Given the description of an element on the screen output the (x, y) to click on. 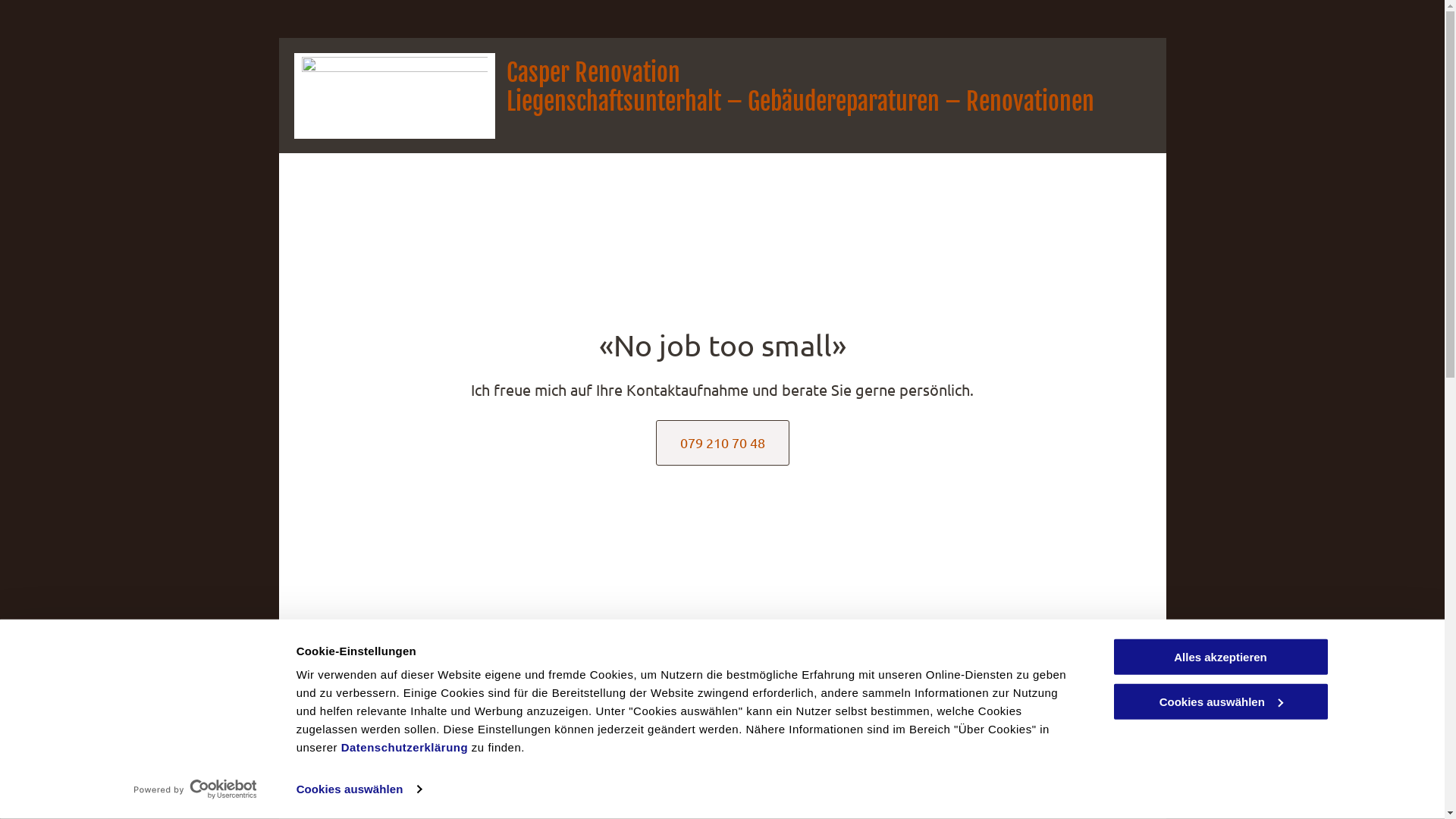
079 210 70 48 Element type: text (721, 442)
Alles akzeptieren Element type: text (1219, 656)
